Given the description of an element on the screen output the (x, y) to click on. 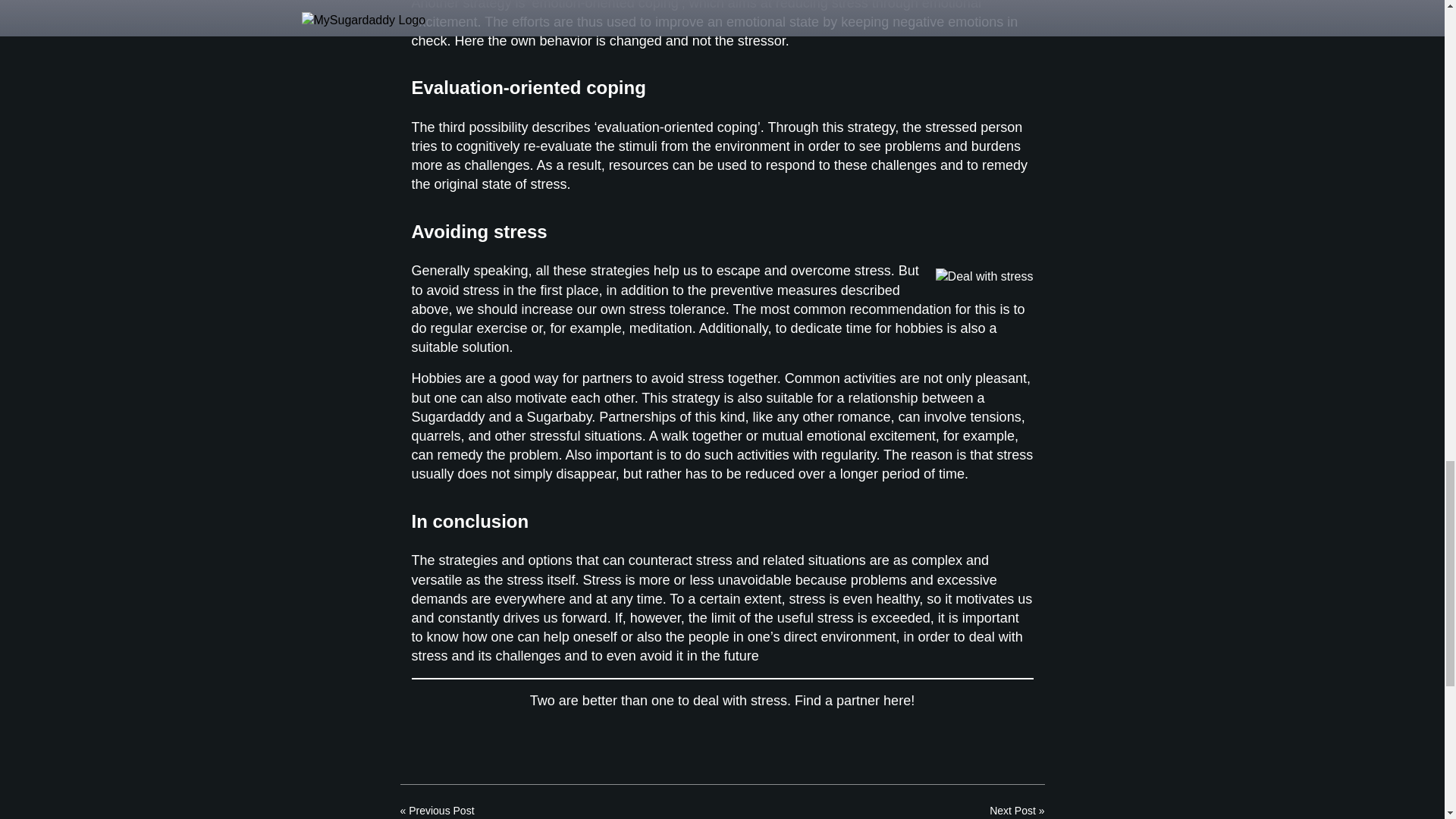
here (897, 700)
